Given the description of an element on the screen output the (x, y) to click on. 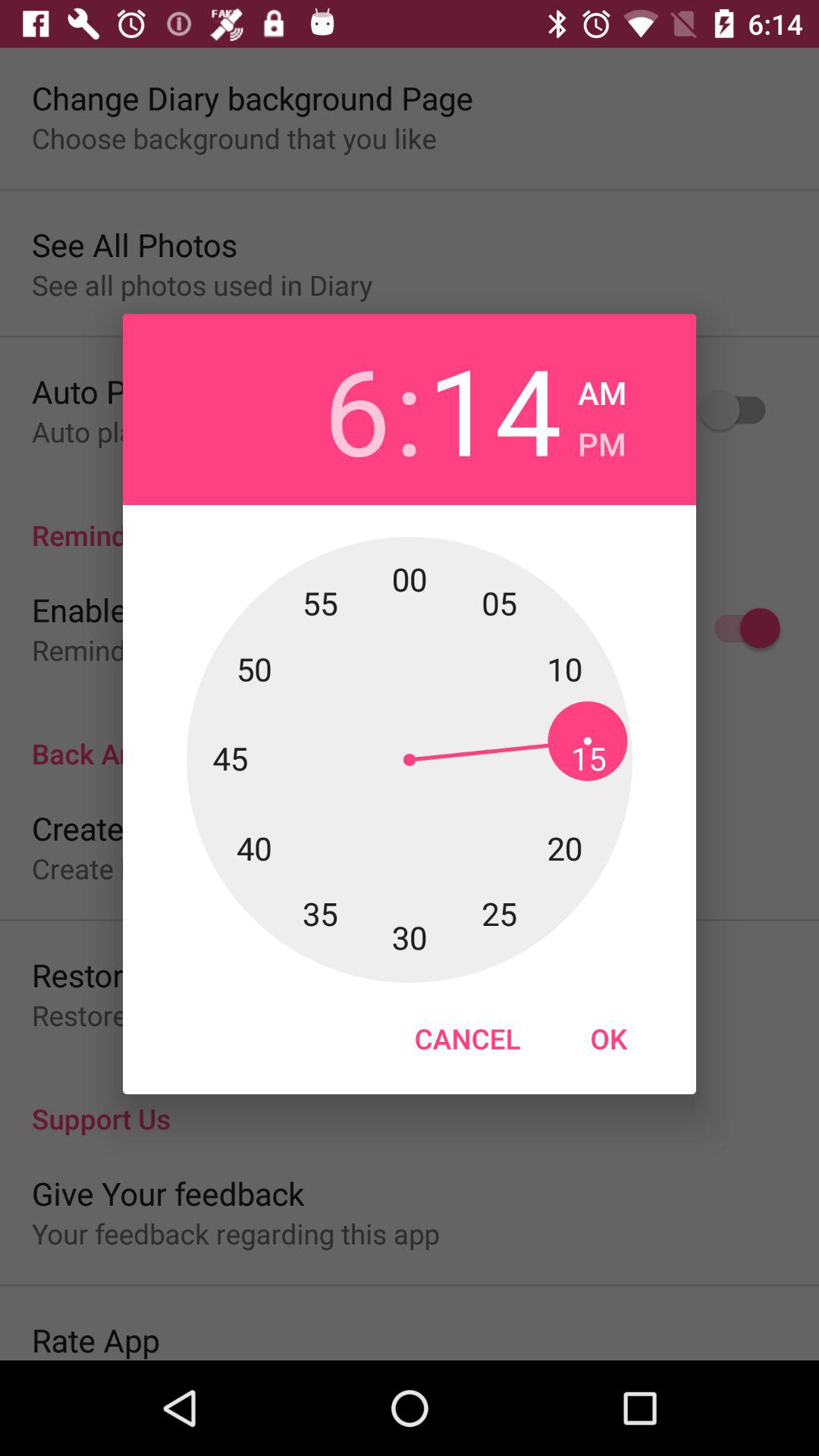
choose item next to the ok icon (467, 1038)
